Given the description of an element on the screen output the (x, y) to click on. 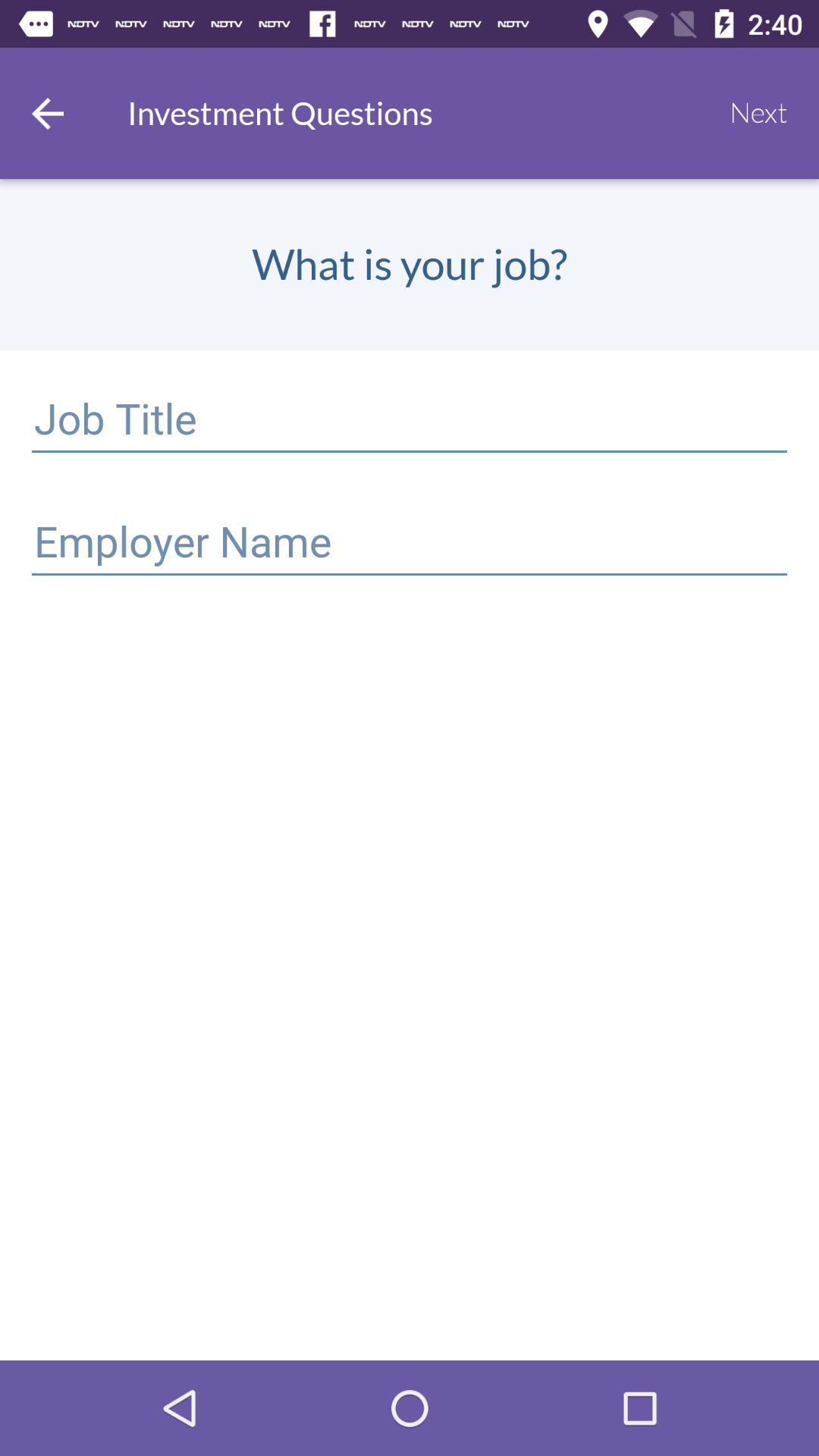
go back a page (47, 113)
